Given the description of an element on the screen output the (x, y) to click on. 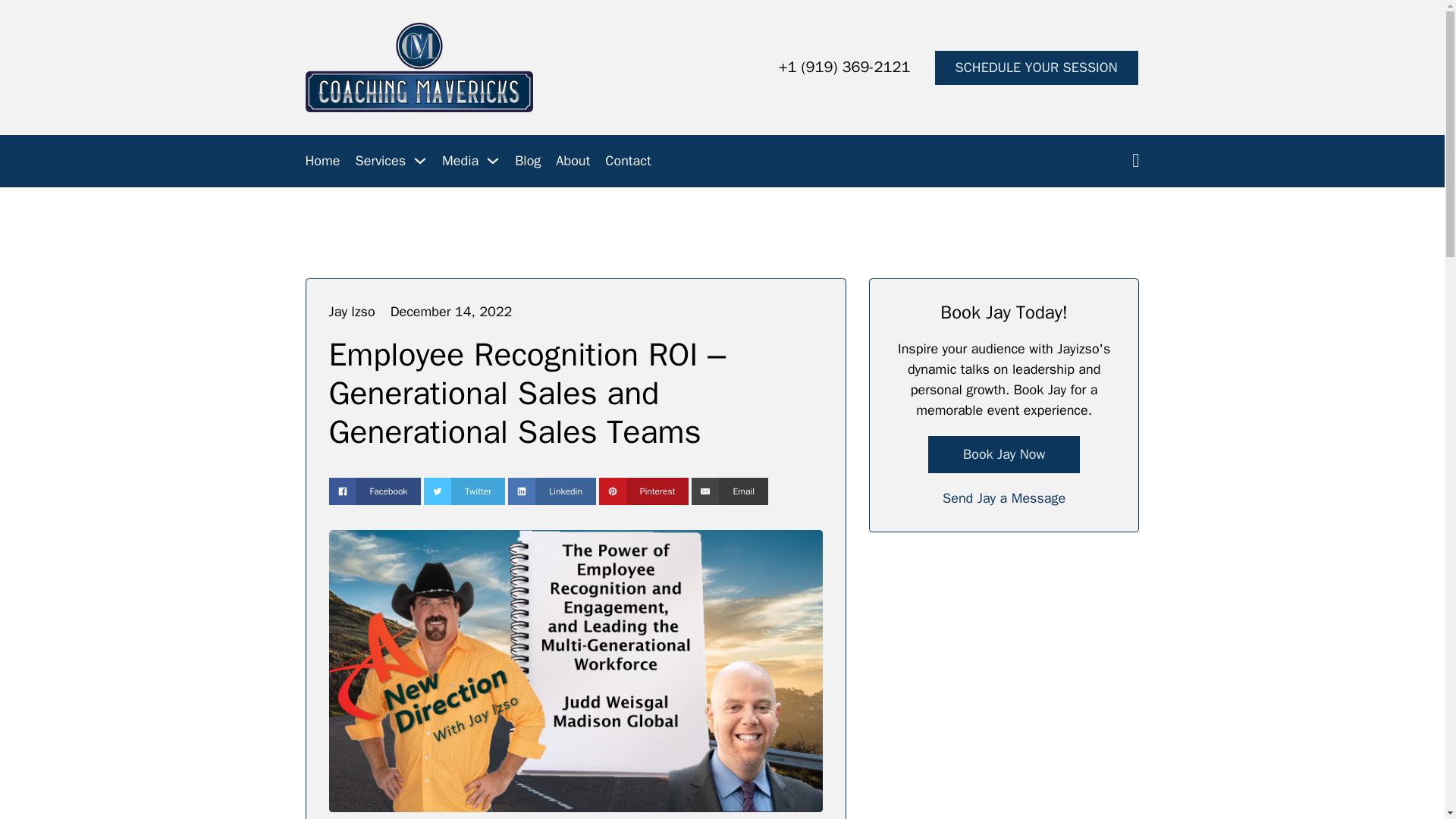
Blog (527, 160)
About (572, 160)
Home (321, 160)
Media (460, 160)
SCHEDULE YOUR SESSION (1036, 67)
Contact (627, 160)
Services (380, 160)
